Given the description of an element on the screen output the (x, y) to click on. 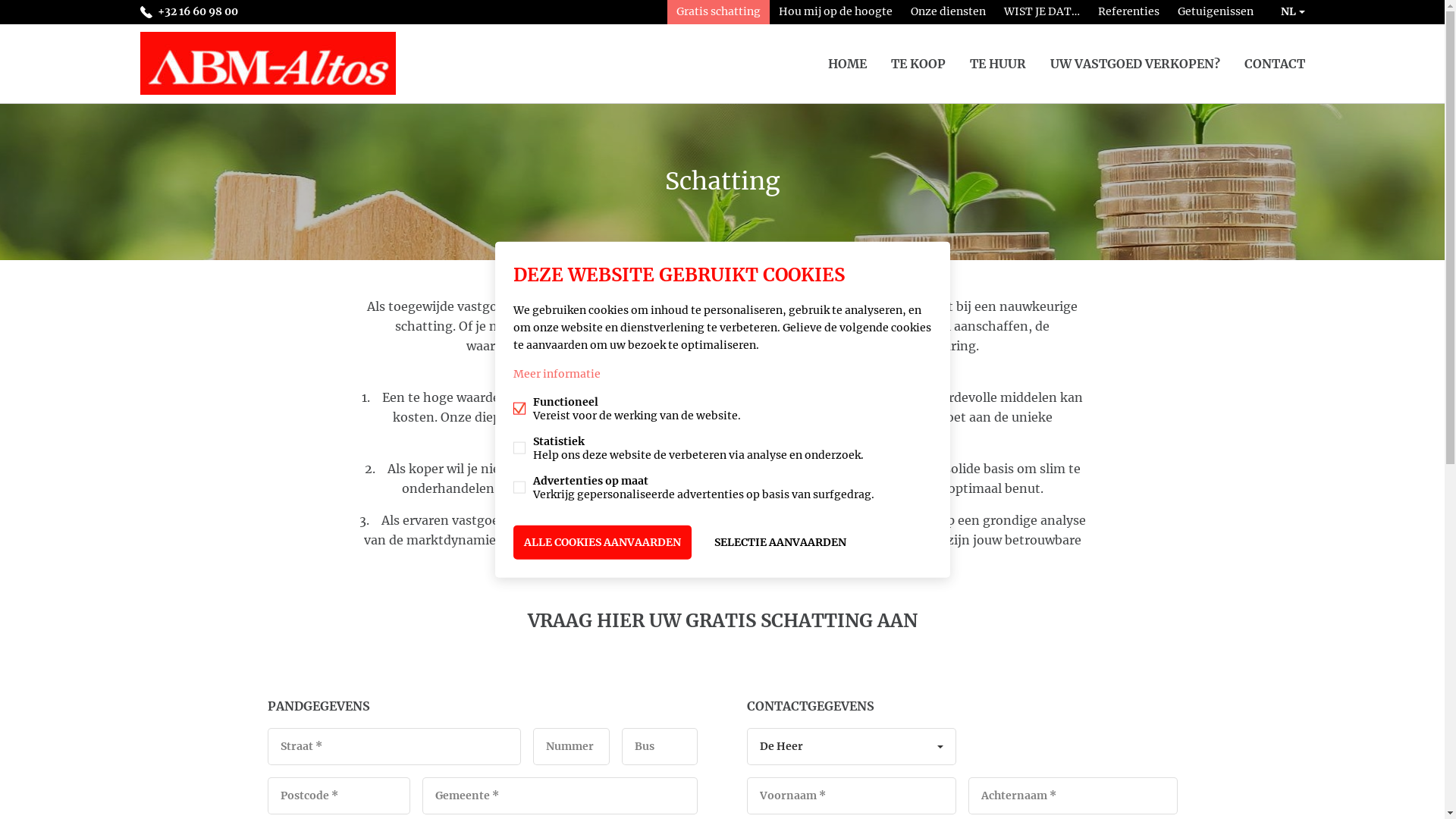
Meer informatie Element type: text (555, 373)
ALLE COOKIES AANVAARDEN Element type: text (601, 542)
+32 16 60 98 00 Element type: text (188, 12)
SELECTIE AANVAARDEN Element type: text (779, 542)
Onze diensten Element type: text (947, 12)
UW VASTGOED VERKOPEN? Element type: text (1134, 63)
Gratis schatting Element type: text (718, 12)
HOME Element type: text (847, 63)
Referenties Element type: text (1128, 12)
Getuigenissen Element type: text (1214, 12)
TE KOOP Element type: text (917, 63)
CONTACT Element type: text (1273, 63)
Hou mij op de hoogte Element type: text (834, 12)
TE HUUR Element type: text (997, 63)
